Given the description of an element on the screen output the (x, y) to click on. 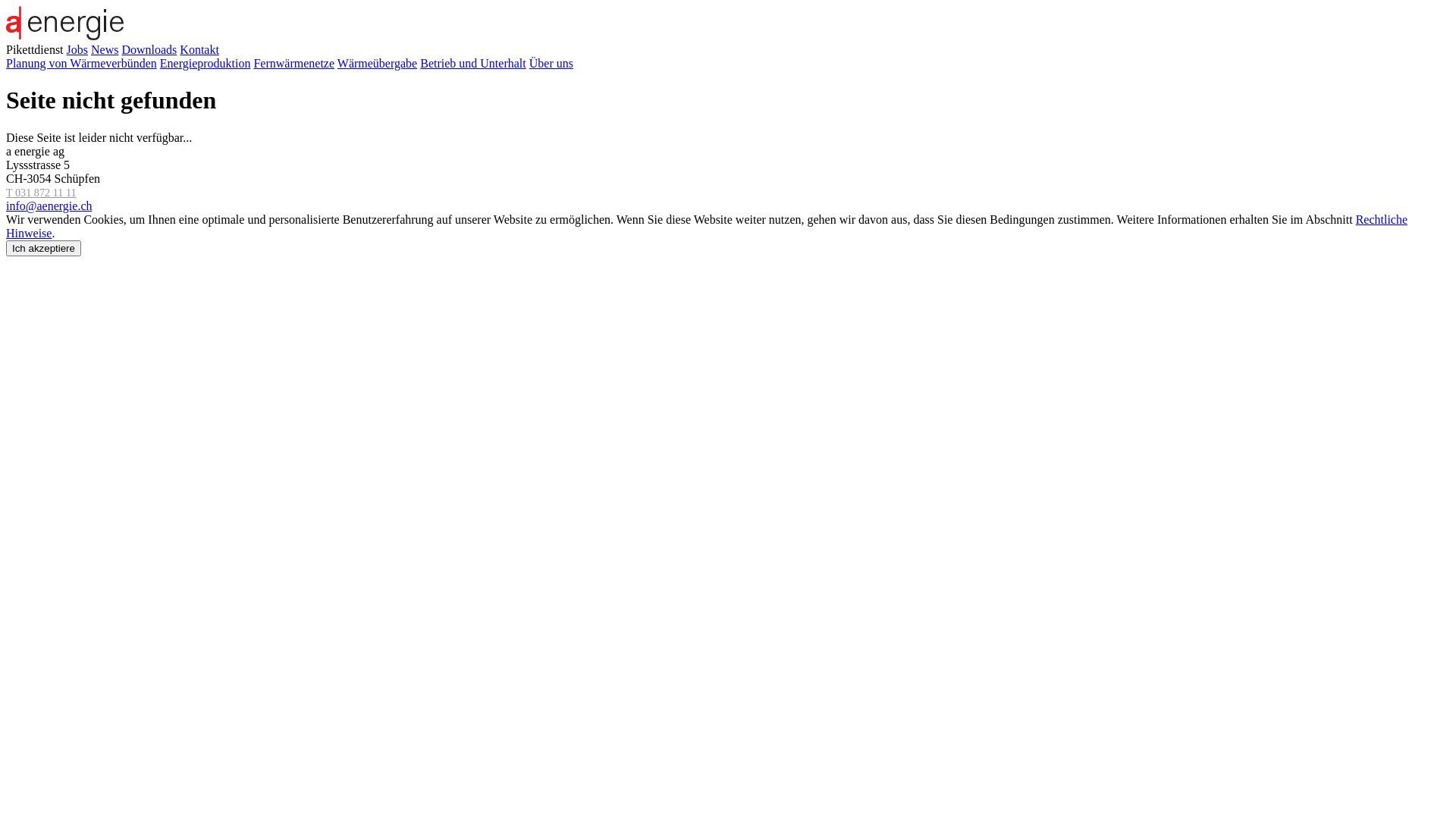
Pikettdienst Element type: text (34, 49)
info@aenergie.ch Element type: text (49, 205)
Betrieb und Unterhalt Element type: text (473, 62)
Downloads Element type: text (148, 49)
Homepage Element type: hover (64, 35)
Kontakt Element type: text (199, 49)
Ich akzeptiere Element type: text (43, 248)
T 031 872 11 11 Element type: text (41, 192)
Rechtliche Hinweise Element type: text (706, 226)
News Element type: text (104, 49)
Jobs Element type: text (76, 49)
